Given the description of an element on the screen output the (x, y) to click on. 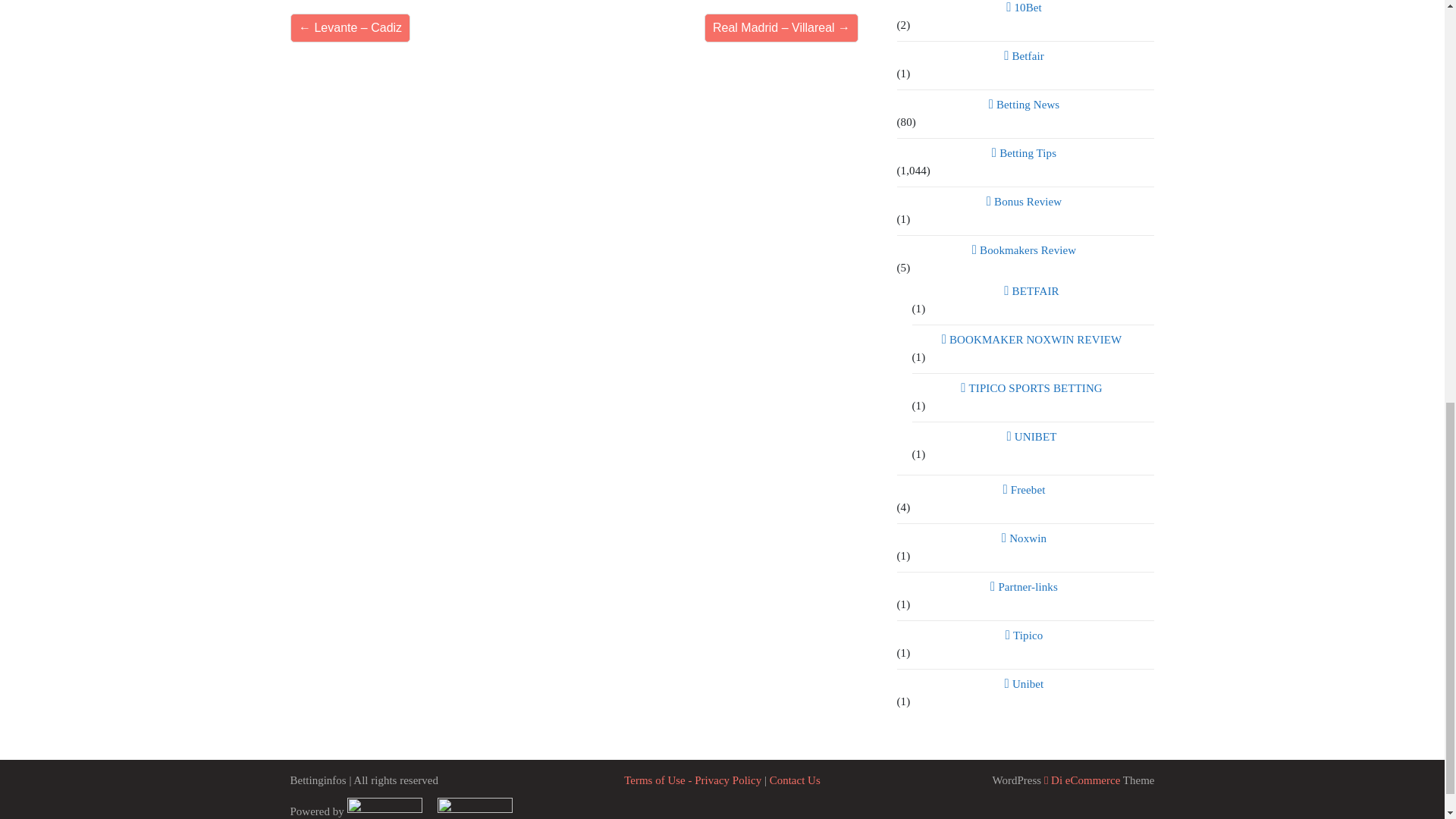
Bookmakers Review (1025, 250)
10Bet (1025, 8)
BOOKMAKER NOXWIN REVIEW (1032, 339)
Betting News (1025, 104)
Betting Tips (1025, 152)
BETFAIR (1032, 291)
TIPICO SPORTS BETTING (1032, 388)
Betfair (1025, 55)
Bonus Review (1025, 201)
UNIBET (1032, 436)
